Given the description of an element on the screen output the (x, y) to click on. 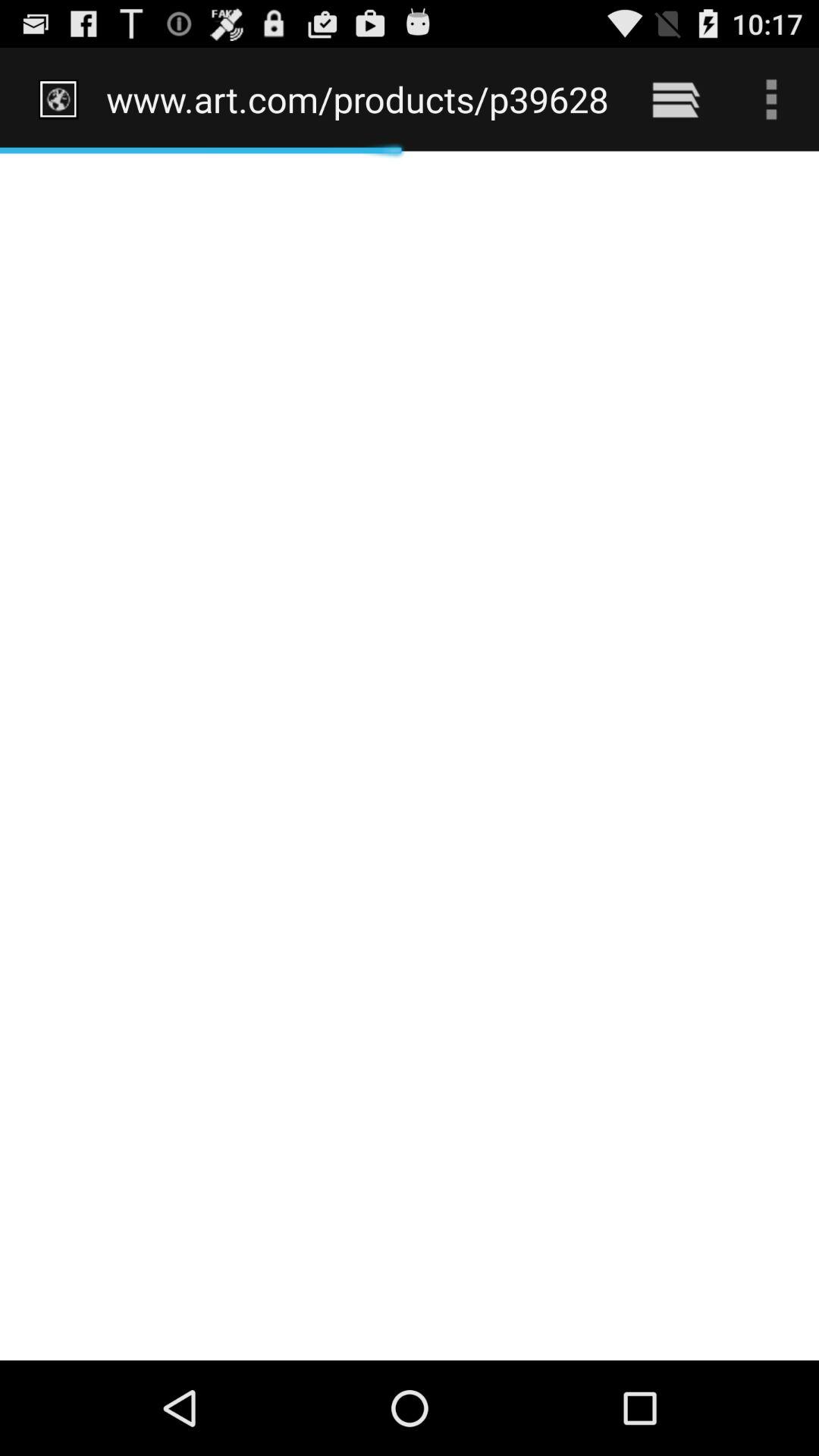
click the www art com (357, 99)
